Given the description of an element on the screen output the (x, y) to click on. 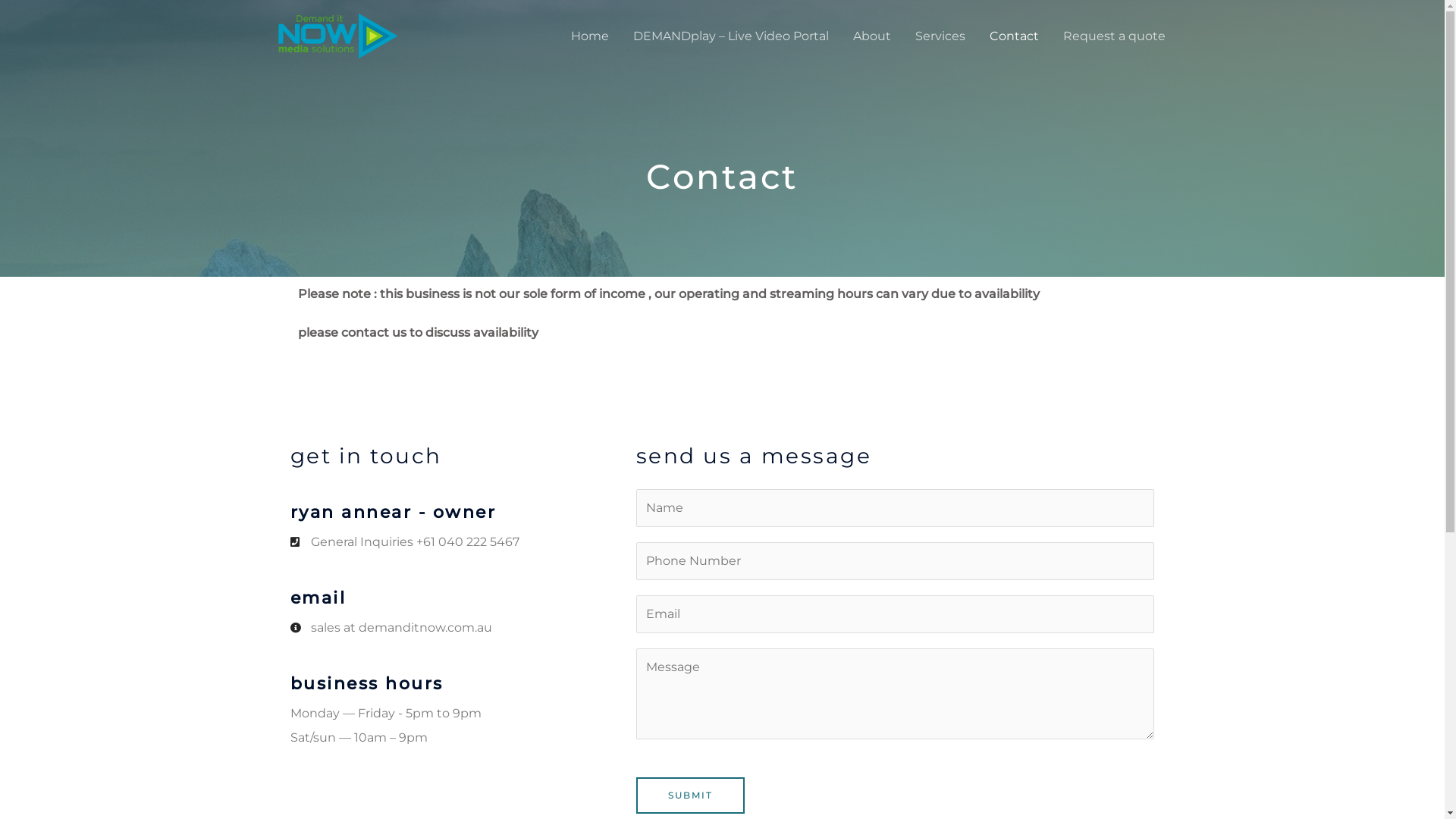
sales at demanditnow.com.au Element type: text (462, 627)
Contact Element type: text (1013, 36)
About Element type: text (871, 36)
SUBMIT Element type: text (689, 795)
Request a quote Element type: text (1114, 36)
General Inquiries +61 040 222 5467 Element type: text (462, 542)
Home Element type: text (589, 36)
Services Element type: text (939, 36)
